Given the description of an element on the screen output the (x, y) to click on. 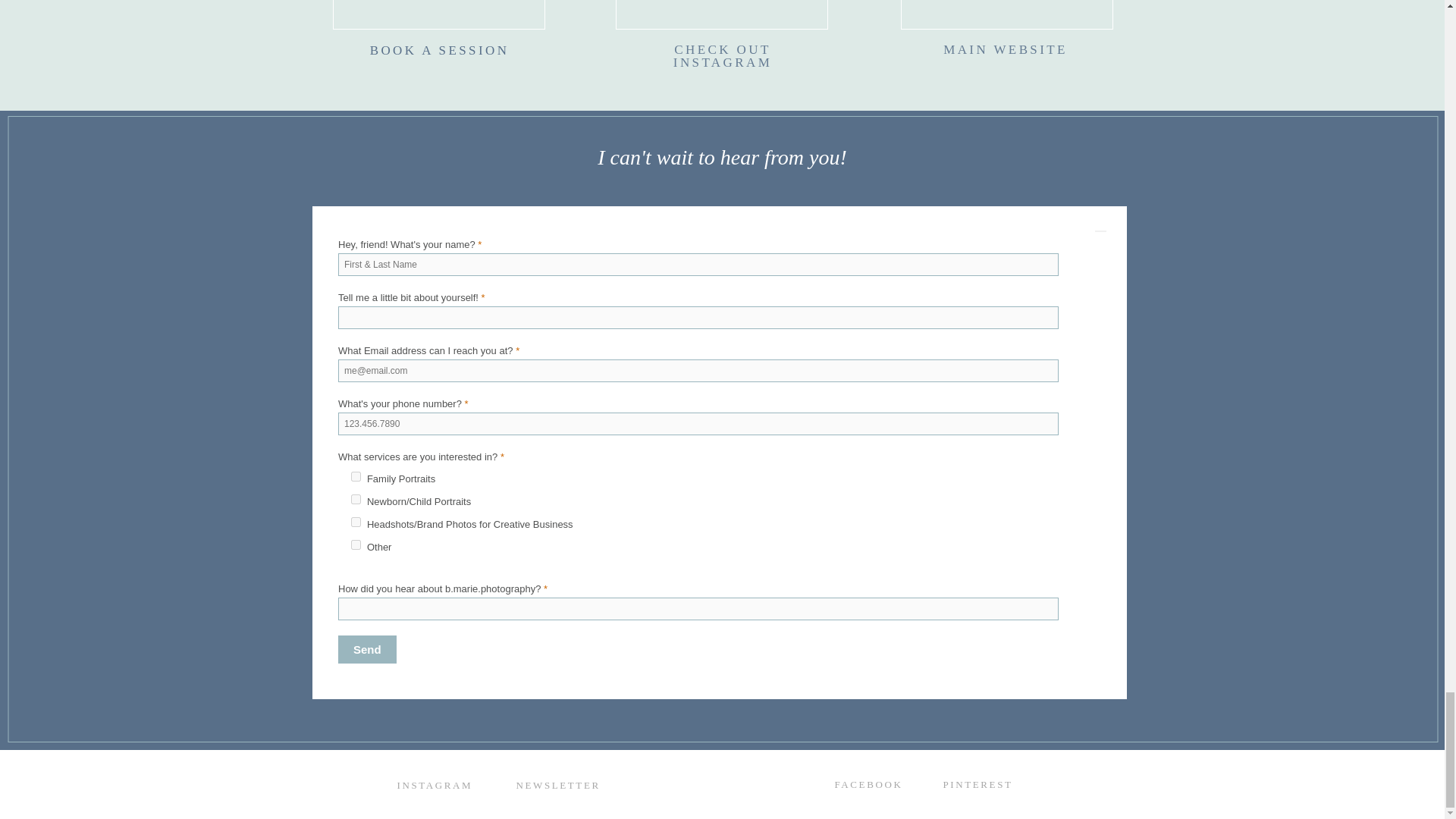
BOOK A SESSION (439, 53)
MAIN WEBSITE (1005, 53)
CHECK OUT INSTAGRAM (721, 53)
